Given the description of an element on the screen output the (x, y) to click on. 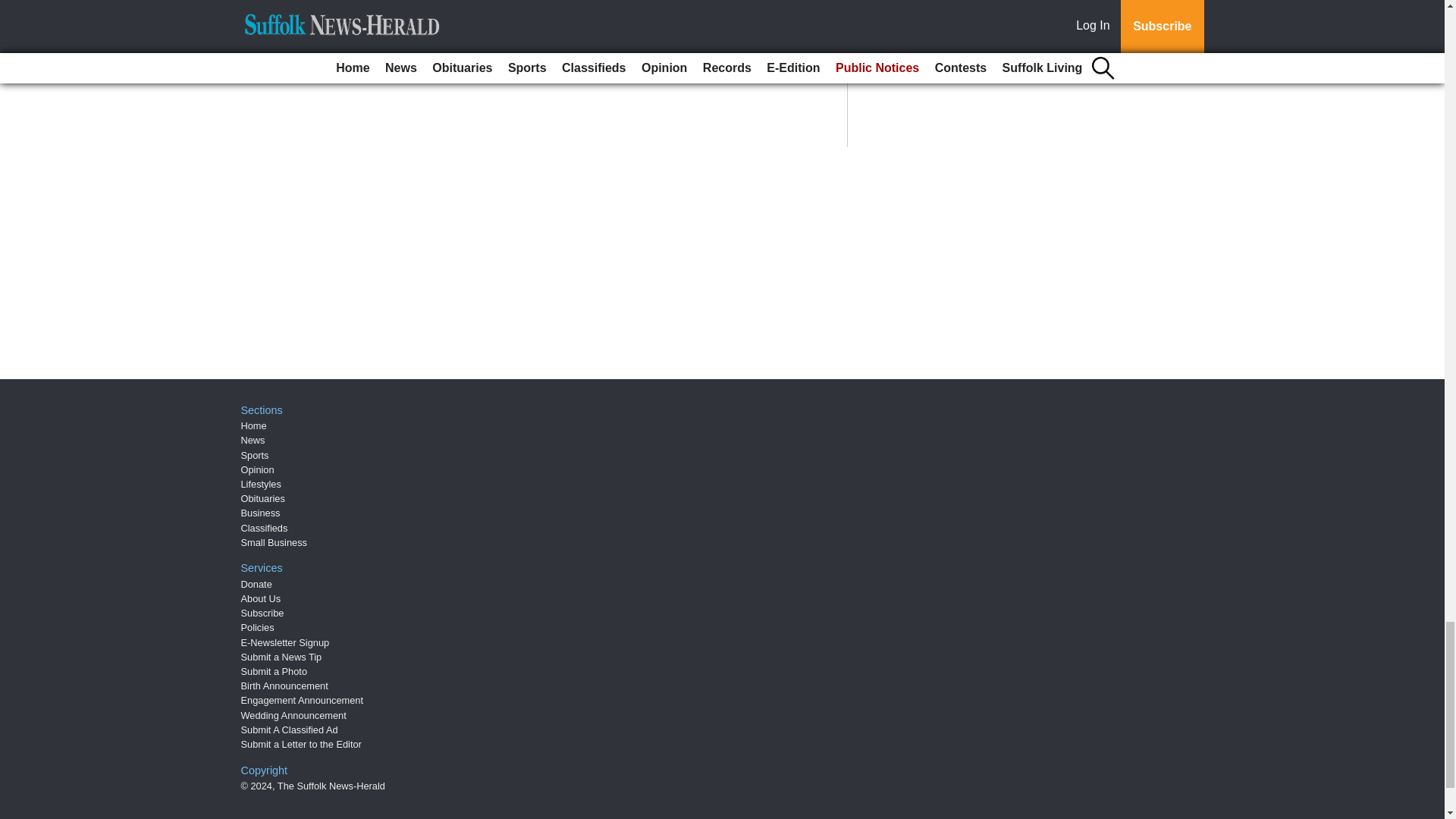
News (252, 439)
Opinion (258, 469)
Business (261, 512)
Home (253, 425)
Sports (255, 455)
Lifestyles (261, 483)
Obituaries (263, 498)
